Given the description of an element on the screen output the (x, y) to click on. 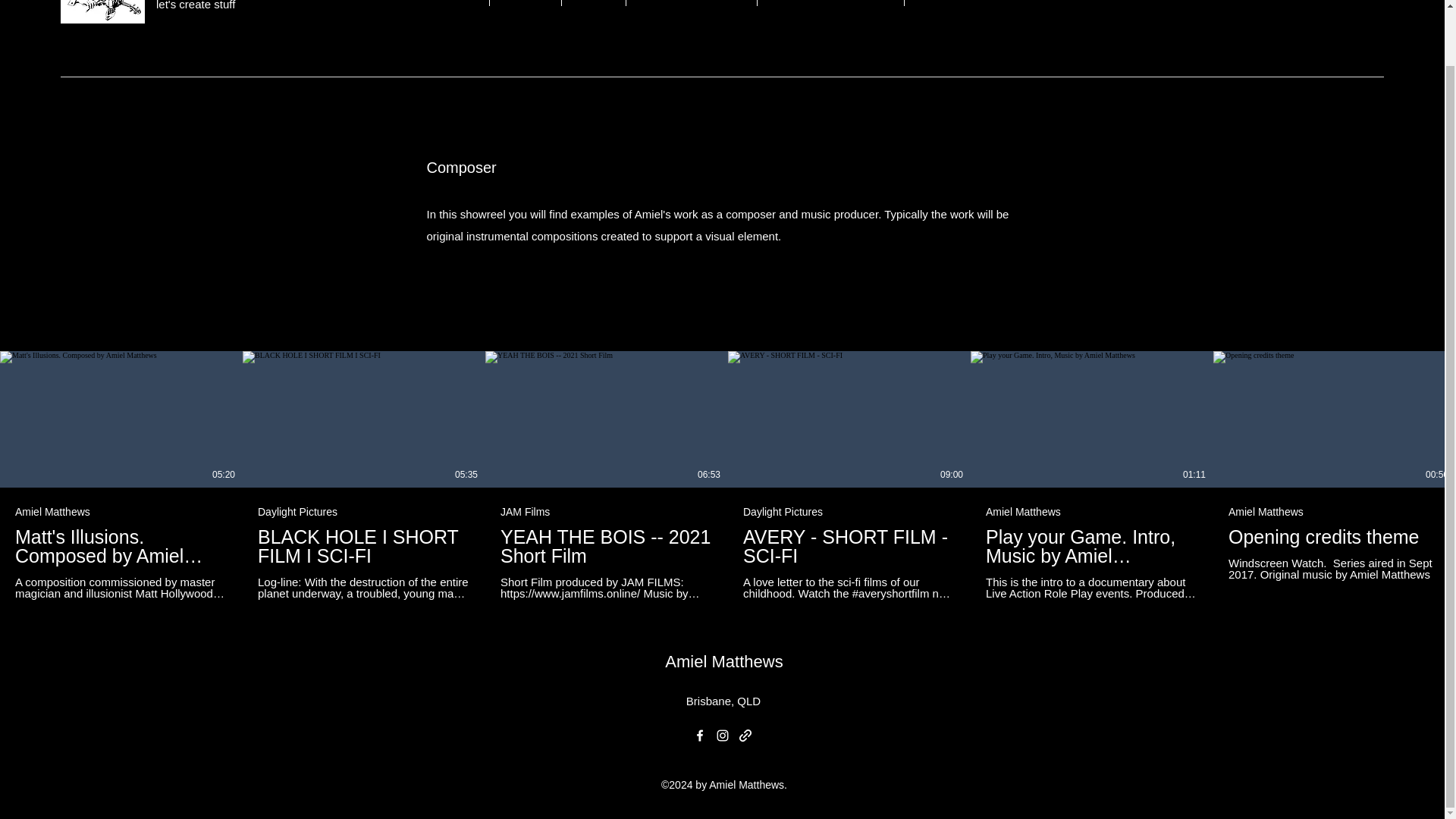
YEAH THE BOIS -- 2021 Short Film (606, 546)
Play your Game. Intro, Music by Amiel Matthews (1091, 546)
Matt's Illusions. Composed by Amiel Matthews (120, 546)
Contact (524, 2)
BLACK HOLE I SHORT FILM I SCI-FI (363, 546)
Opening credits theme (1334, 536)
About (593, 2)
Videographer Showreel (830, 2)
Amiel Matthews (724, 660)
Composer Showreel (691, 2)
AVERY - SHORT FILM - SCI-FI (848, 546)
Home (457, 2)
